Given the description of an element on the screen output the (x, y) to click on. 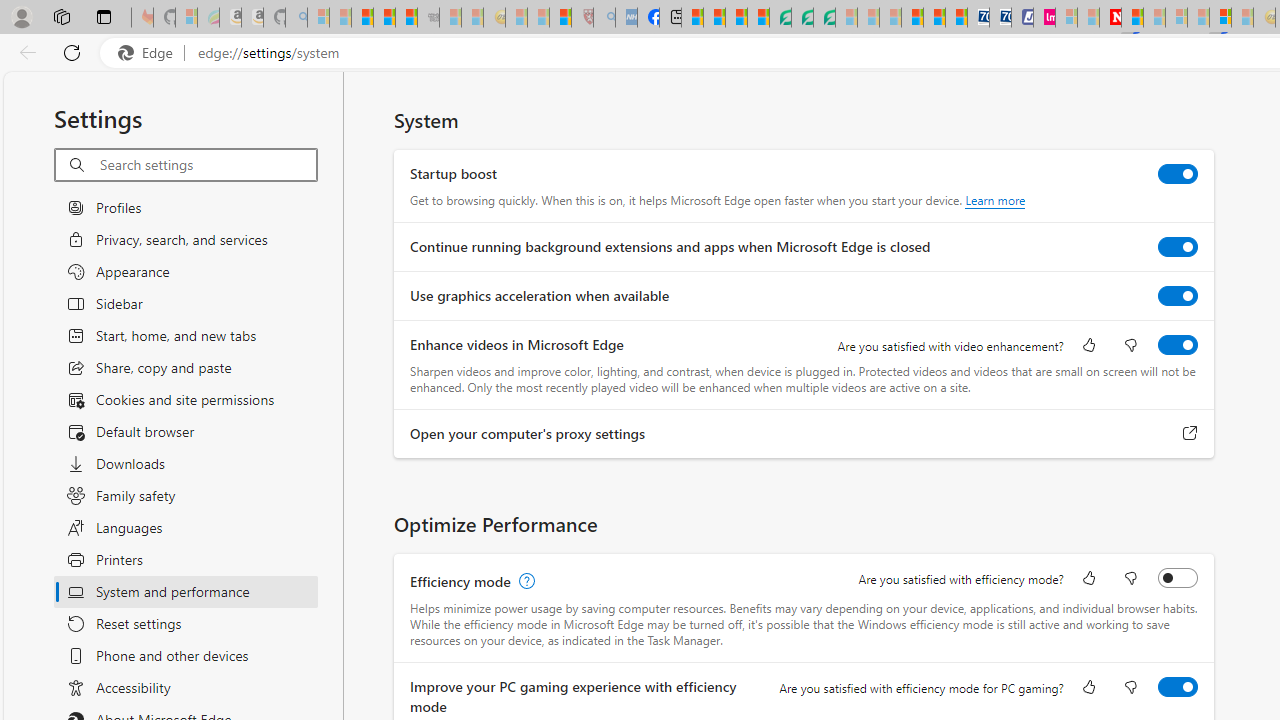
Jobs - lastminute.com Investor Portal (1044, 17)
